Given the description of an element on the screen output the (x, y) to click on. 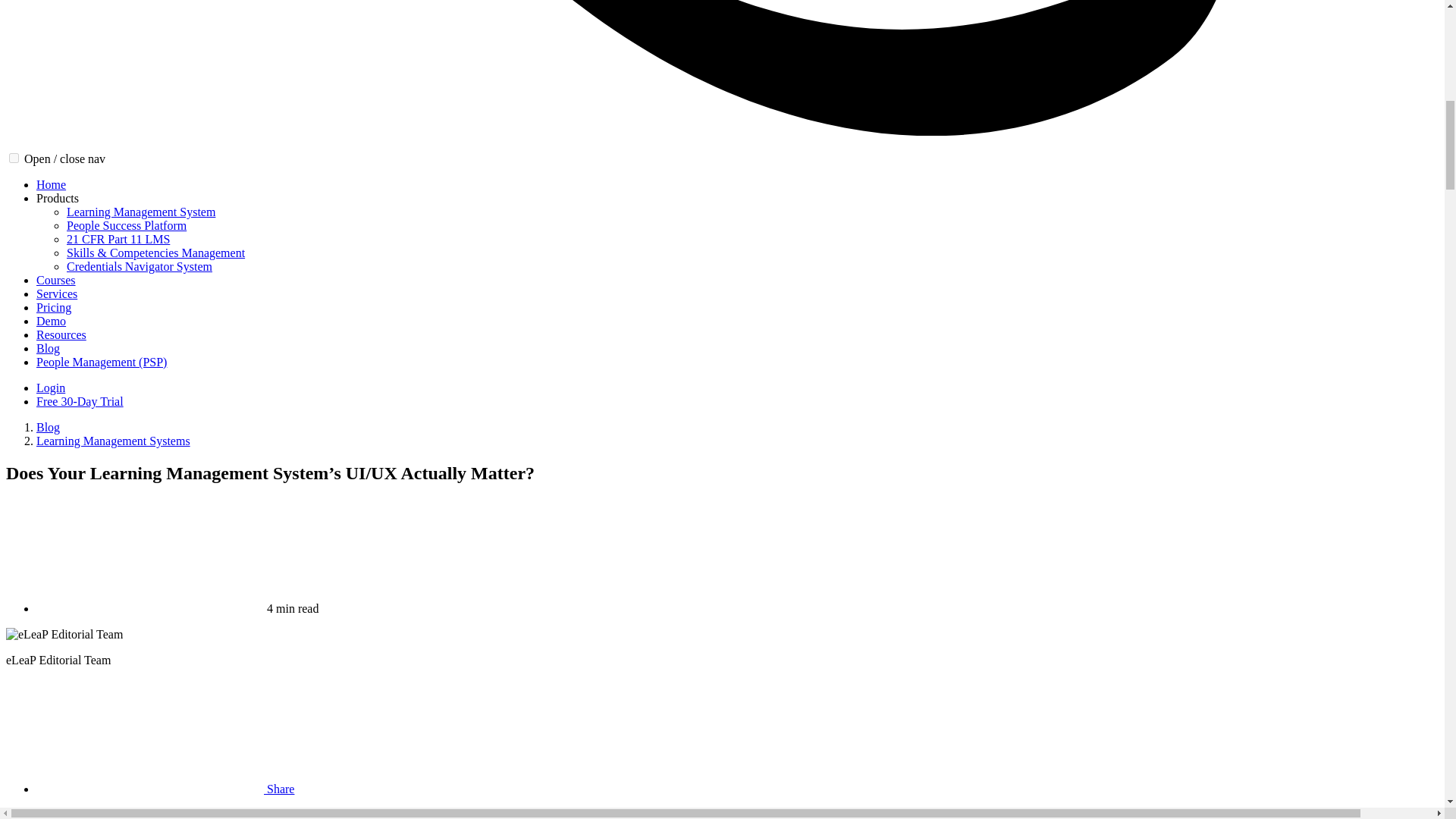
Login (50, 387)
21 CFR Part 11 LMS (118, 238)
Home (50, 184)
Learning Management System (140, 211)
Services (56, 293)
Learning Management Systems (113, 440)
People Success Platform (126, 225)
Blog (47, 427)
Courses (55, 279)
Products (57, 197)
